Given the description of an element on the screen output the (x, y) to click on. 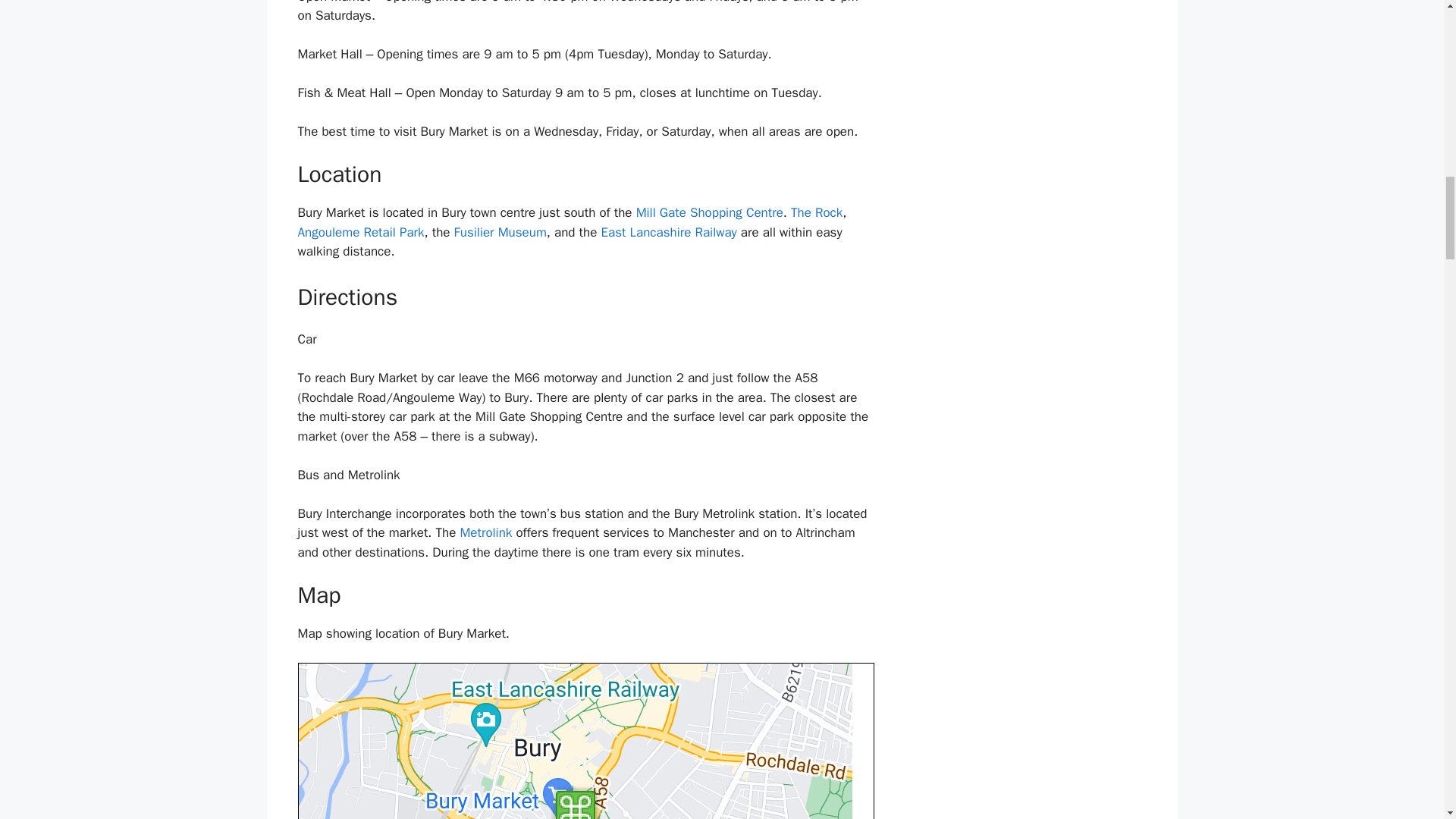
Manchester Metrolink (486, 532)
Angouleme Retail Park (360, 232)
The Fusilier Museum (500, 232)
Mill Gate Shopping Centre (709, 212)
The Rock, Bury (816, 212)
